Given the description of an element on the screen output the (x, y) to click on. 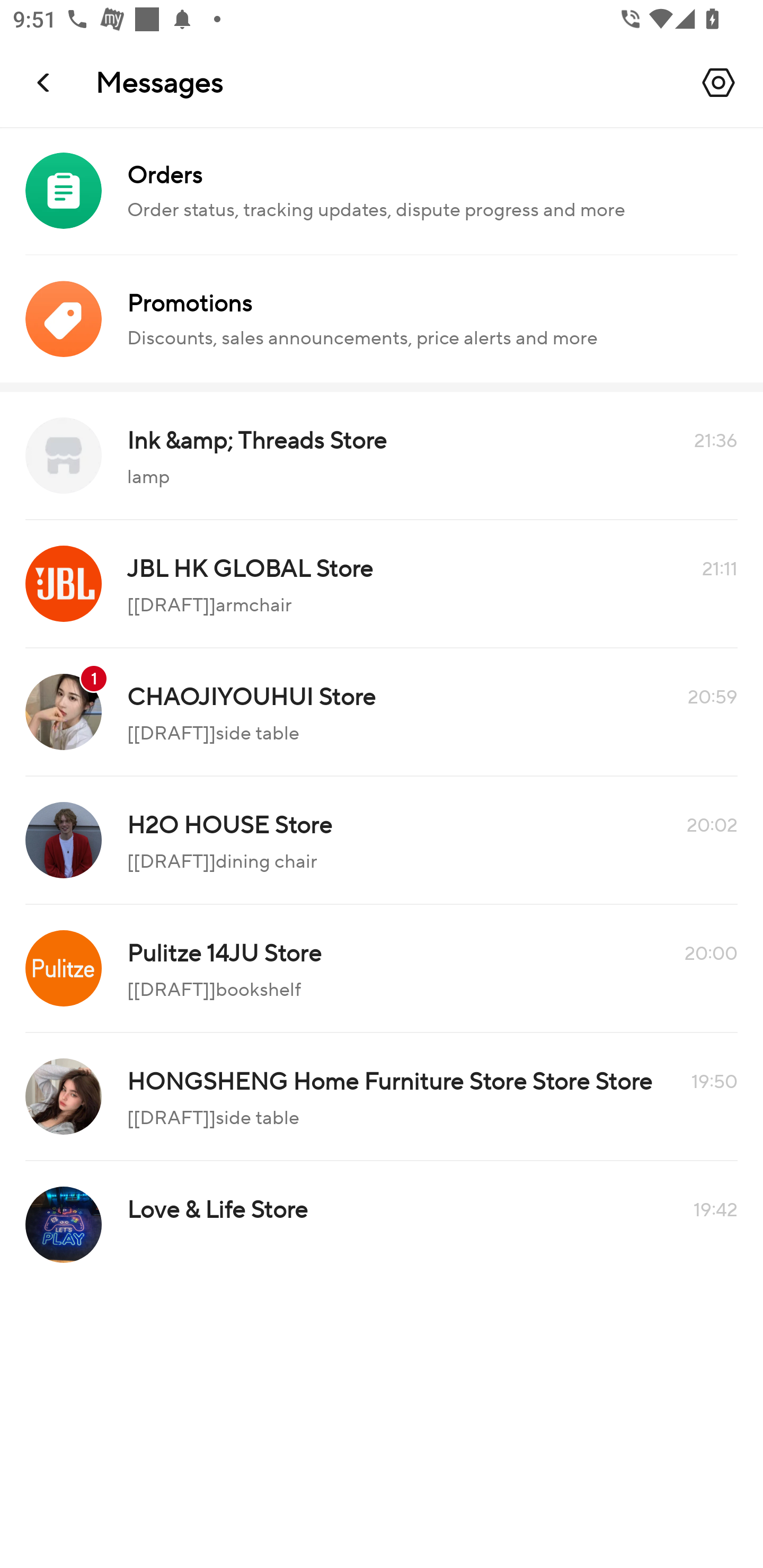
Navigate up (44, 82)
